Given the description of an element on the screen output the (x, y) to click on. 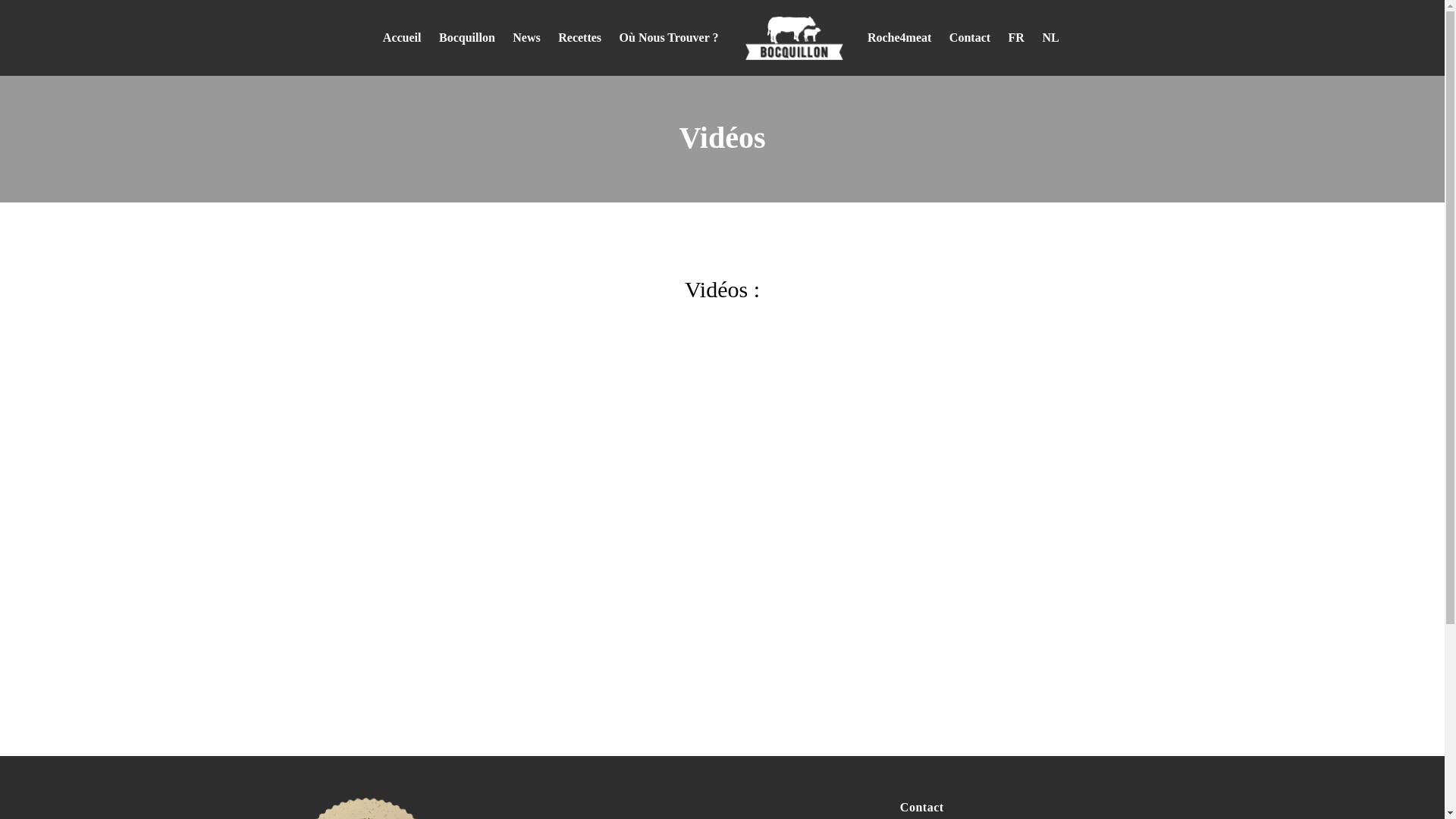
Contact Element type: text (969, 37)
FR Element type: text (1016, 37)
Recettes Element type: text (579, 37)
News Element type: text (526, 37)
Accueil Element type: text (402, 37)
Roche4meat Element type: text (898, 37)
NL Element type: text (1050, 37)
Bocquillon Element type: text (466, 37)
